Given the description of an element on the screen output the (x, y) to click on. 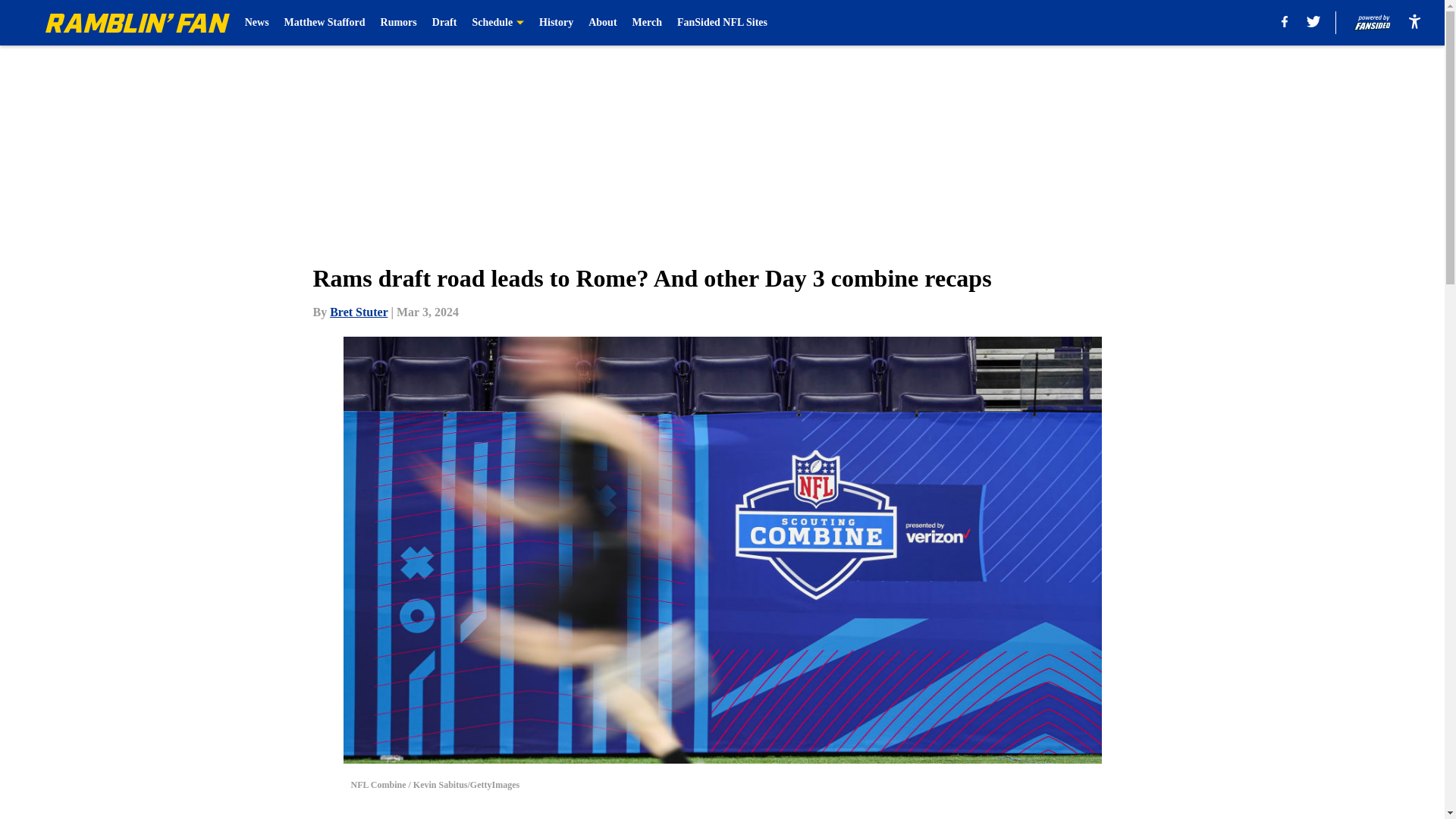
News (256, 22)
History (555, 22)
FanSided NFL Sites (722, 22)
Matthew Stafford (324, 22)
Merch (646, 22)
Rumors (398, 22)
About (601, 22)
Draft (444, 22)
Bret Stuter (358, 311)
